Given the description of an element on the screen output the (x, y) to click on. 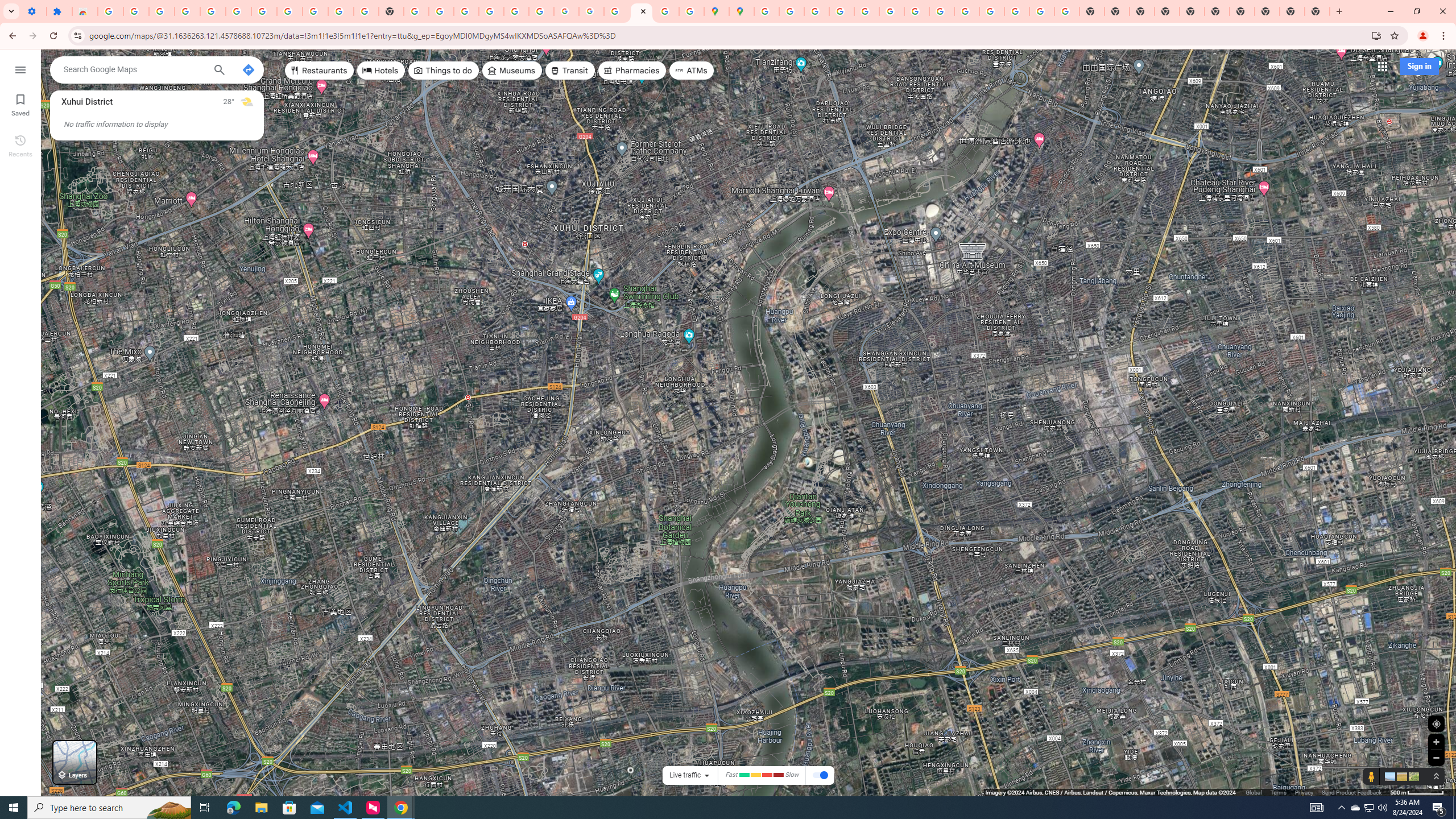
Saved (20, 104)
Safety in Our Products - Google Safety Center (691, 11)
Show Your Location (1436, 723)
https://scholar.google.com/ (415, 11)
ATMs (691, 70)
Settings - On startup (34, 11)
